Given the description of an element on the screen output the (x, y) to click on. 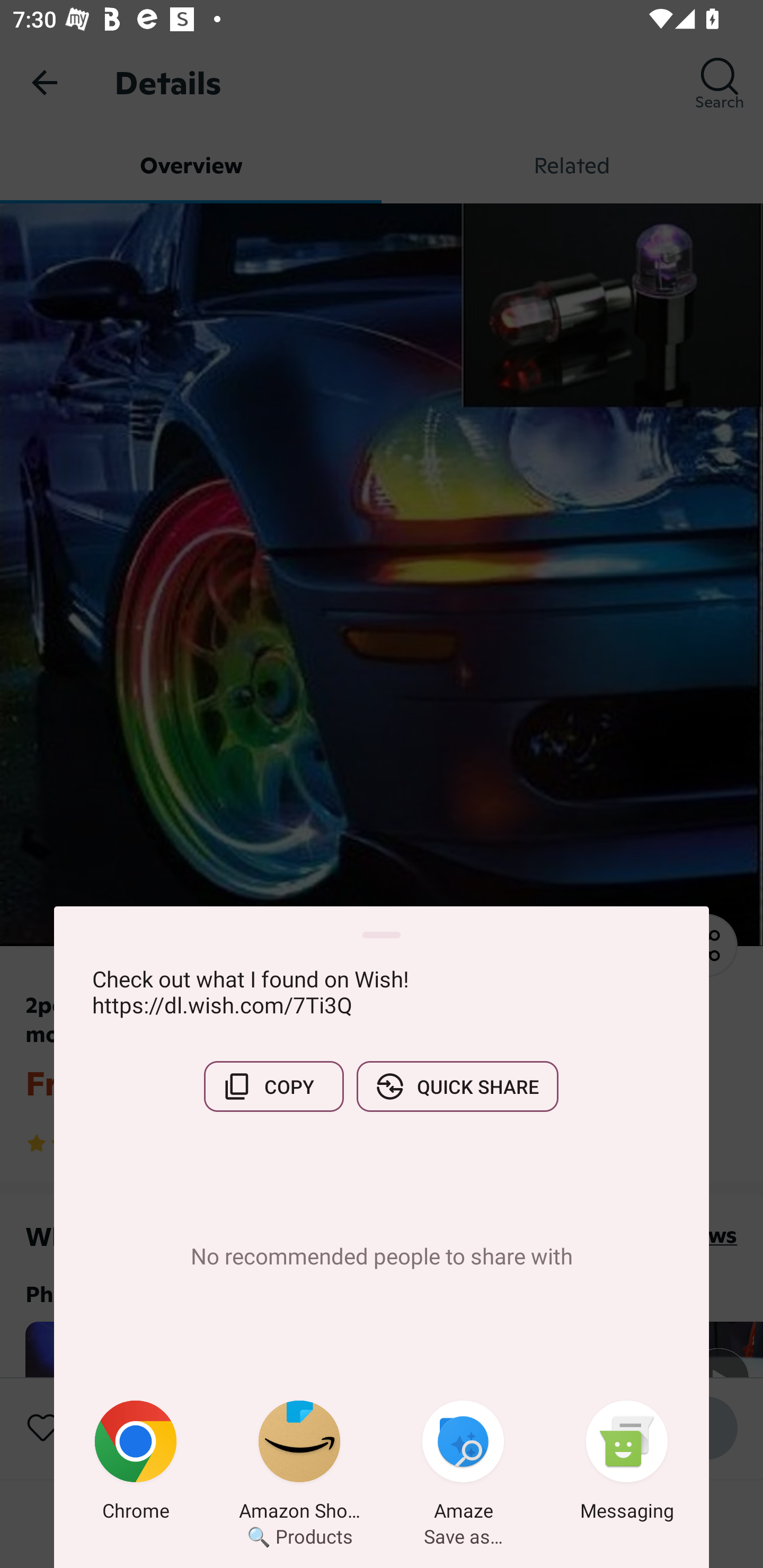
COPY (273, 1086)
QUICK SHARE (457, 1086)
Chrome (135, 1463)
Amazon Shopping 🔍 Products (299, 1463)
Amaze Save as… (463, 1463)
Messaging (626, 1463)
